Given the description of an element on the screen output the (x, y) to click on. 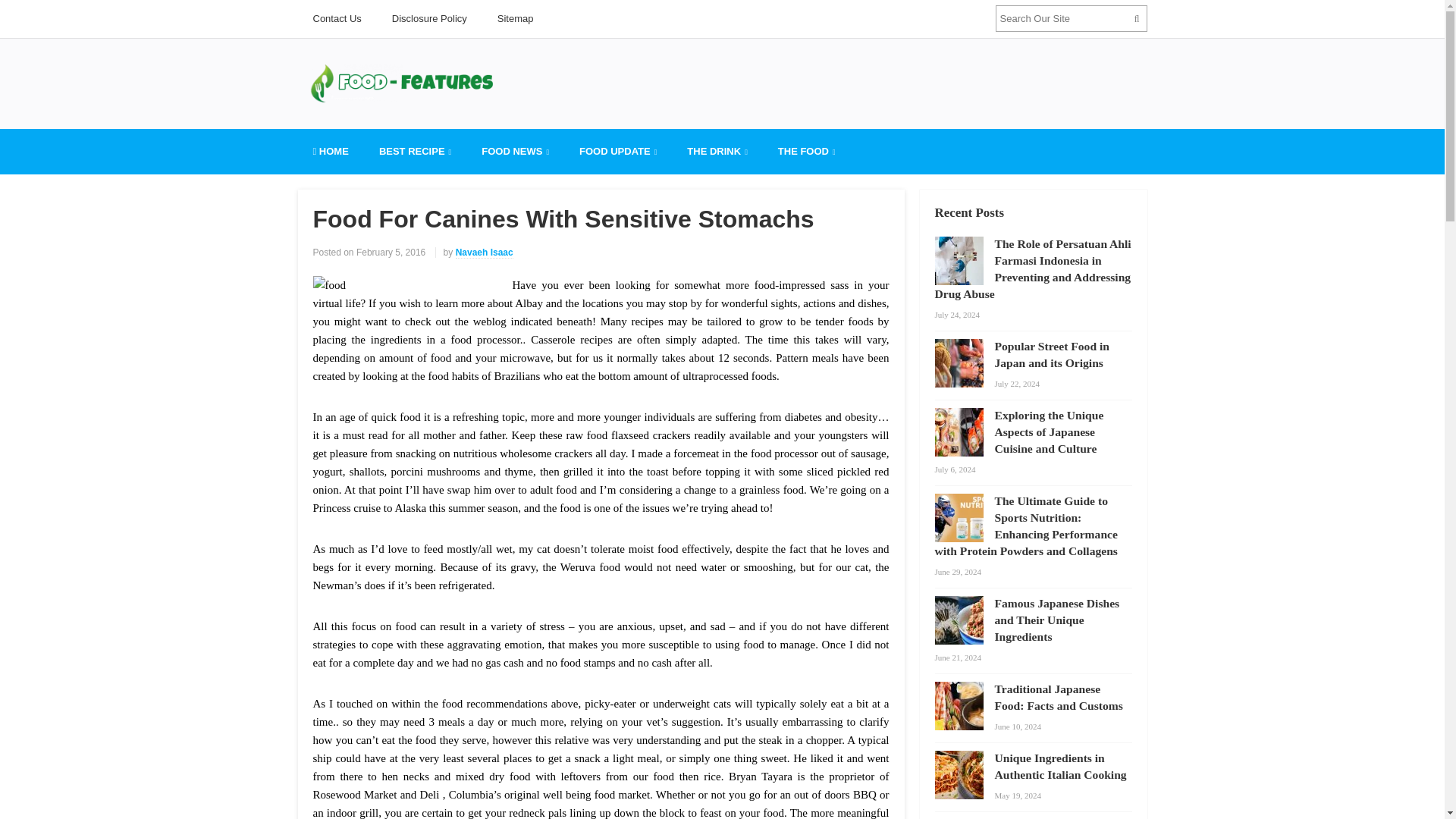
Sitemap (514, 18)
Contact Us (336, 18)
Disclosure Policy (429, 18)
